Given the description of an element on the screen output the (x, y) to click on. 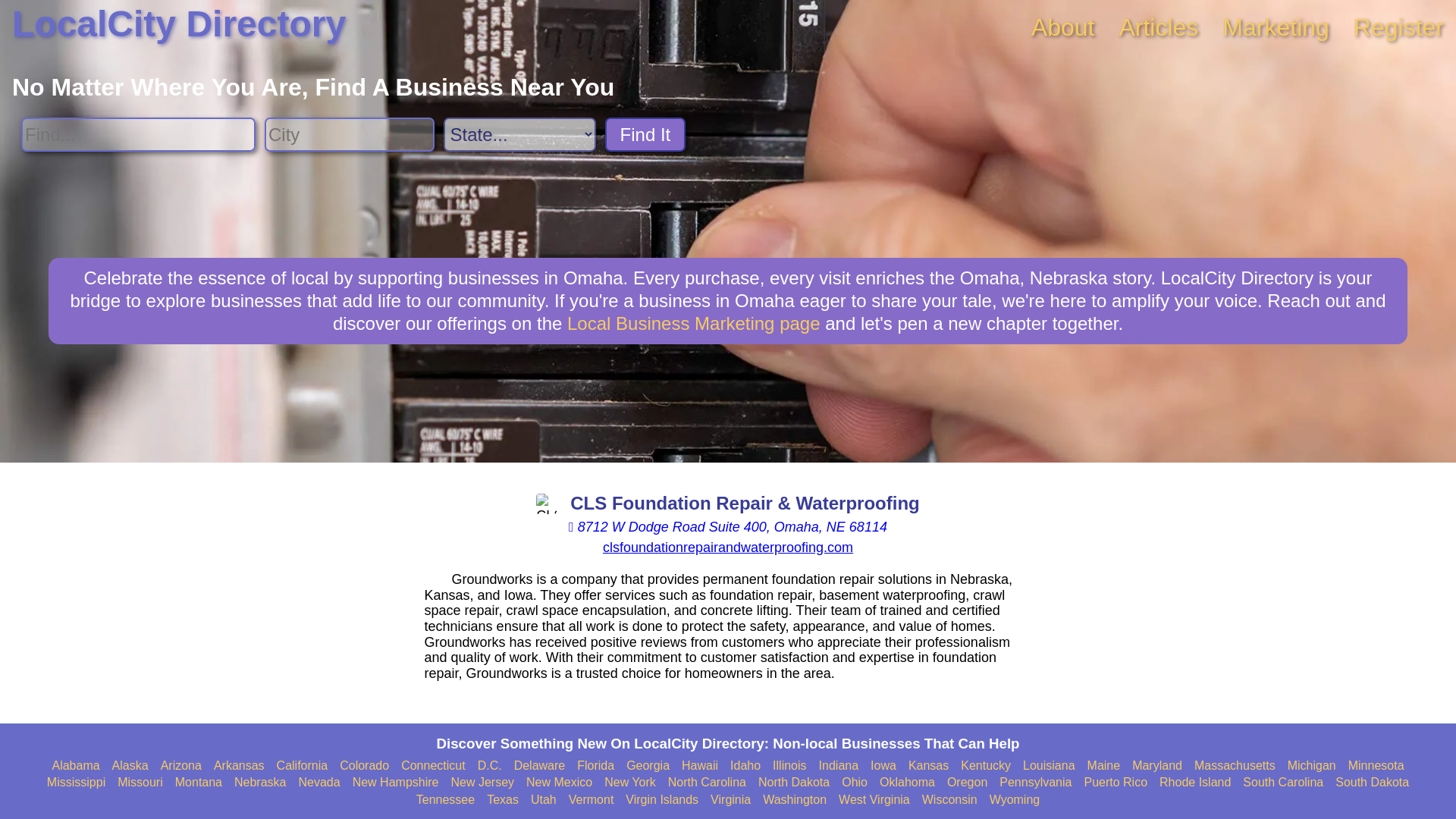
Nebraska (259, 782)
Hawaii (699, 766)
Visit clsfoundationrepairandwaterproofing.com (727, 547)
Articles (1158, 27)
Louisiana (1049, 766)
LocalCity Directory (178, 24)
Find Businesses in Idaho (745, 766)
Find Businesses in Alaska (130, 766)
Minnesota (1376, 766)
Find Businesses in Florida (595, 766)
